Given the description of an element on the screen output the (x, y) to click on. 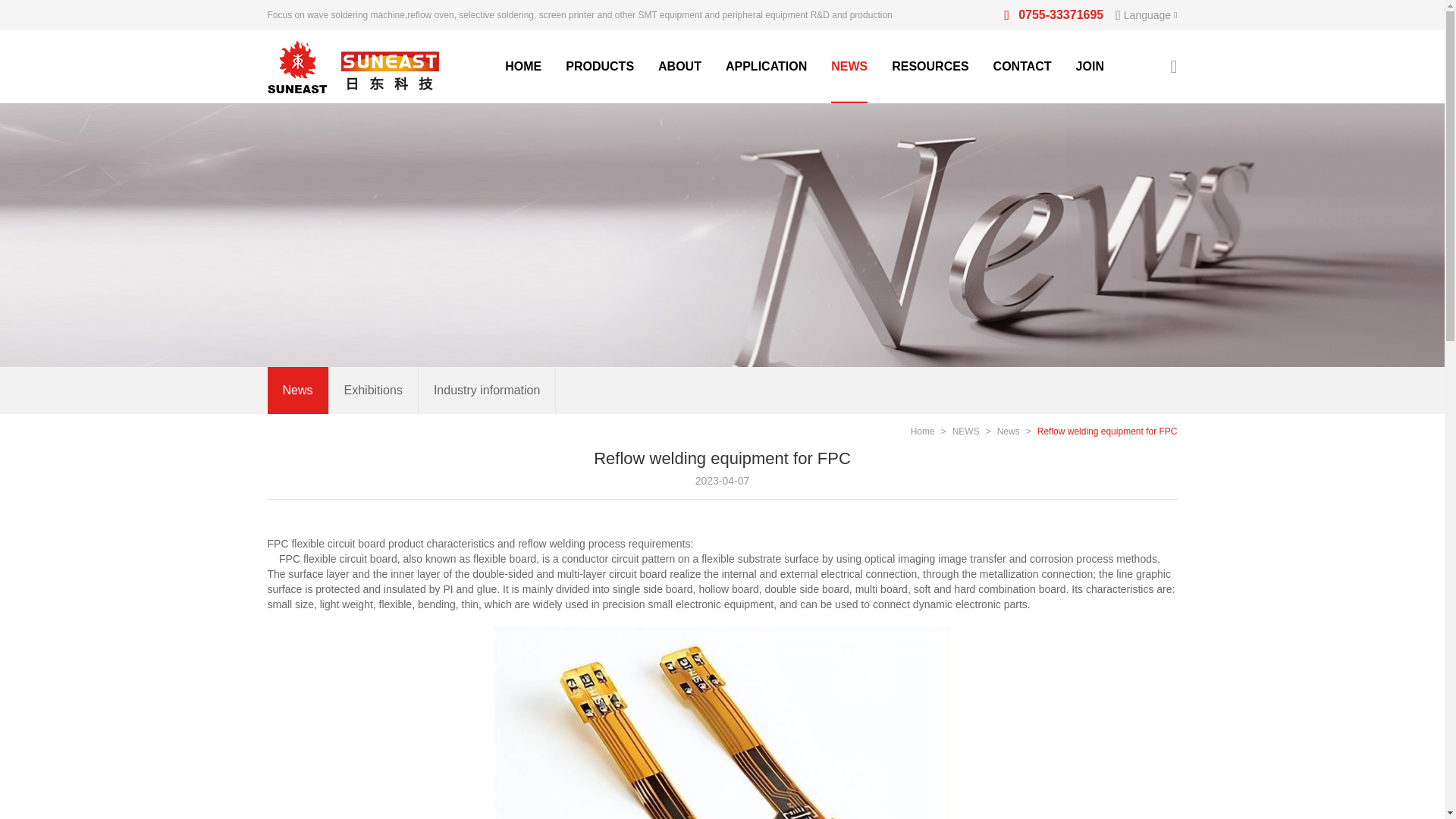
RESOURCES (411, 390)
APPLICATION (929, 66)
PRODUCTS (765, 66)
PRODUCTS (599, 66)
